Given the description of an element on the screen output the (x, y) to click on. 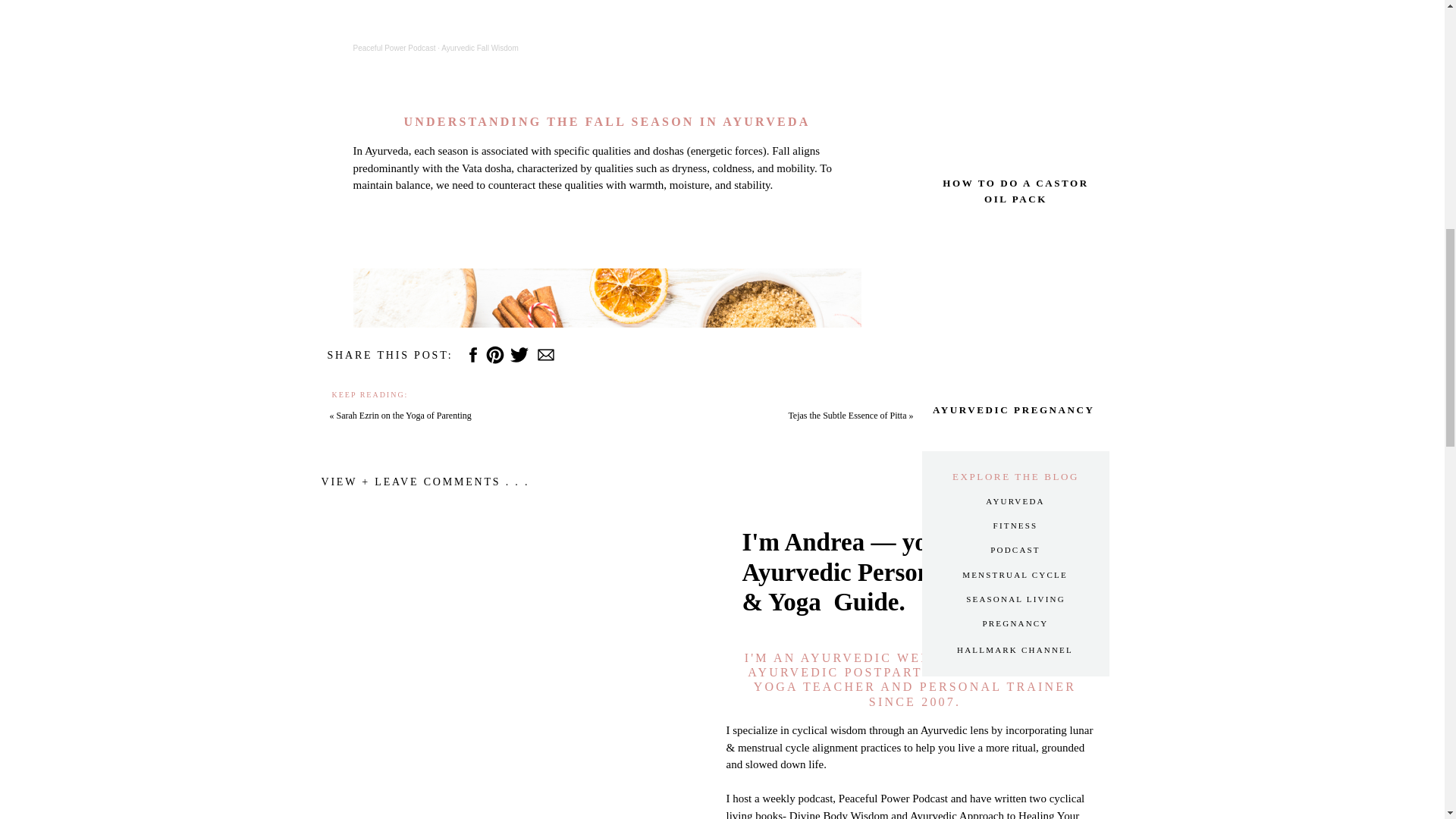
AYURVEDA (1015, 501)
Peaceful Power Podcast (394, 48)
FITNESS (1015, 526)
MENSTRUAL CYCLE (1014, 575)
HOW TO DO A CASTOR OIL PACK (1015, 190)
AYURVEDIC PREGNANCY  (1015, 417)
HALLMARK CHANNEL (1015, 650)
Ayurvedic Fall Wisdom (479, 48)
PODCAST (1015, 550)
Peaceful Power Podcast (394, 48)
SEASONAL LIVING (1016, 599)
Ayurvedic Fall Wisdom (479, 48)
PREGNANCY (1015, 623)
